Given the description of an element on the screen output the (x, y) to click on. 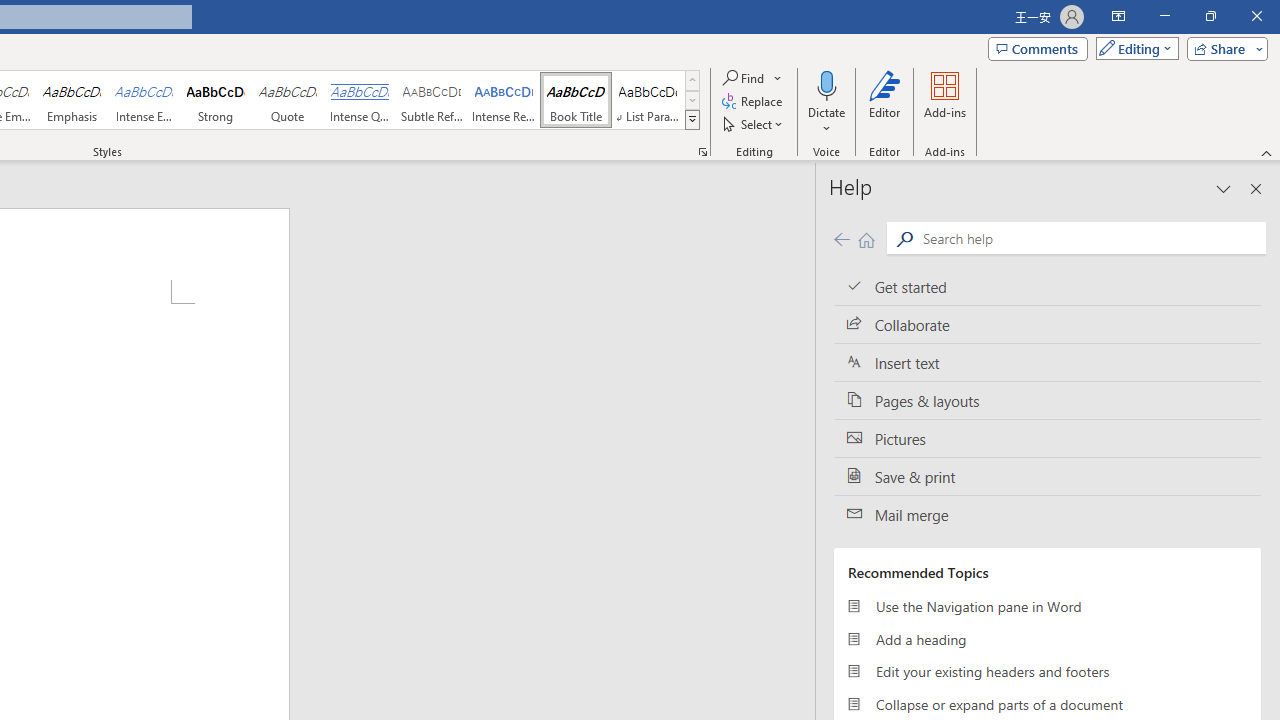
Strong (216, 100)
Collapse or expand parts of a document (1047, 704)
Insert text (1047, 363)
Get started (1047, 286)
Previous page (841, 238)
Intense Quote (359, 100)
Emphasis (71, 100)
